Given the description of an element on the screen output the (x, y) to click on. 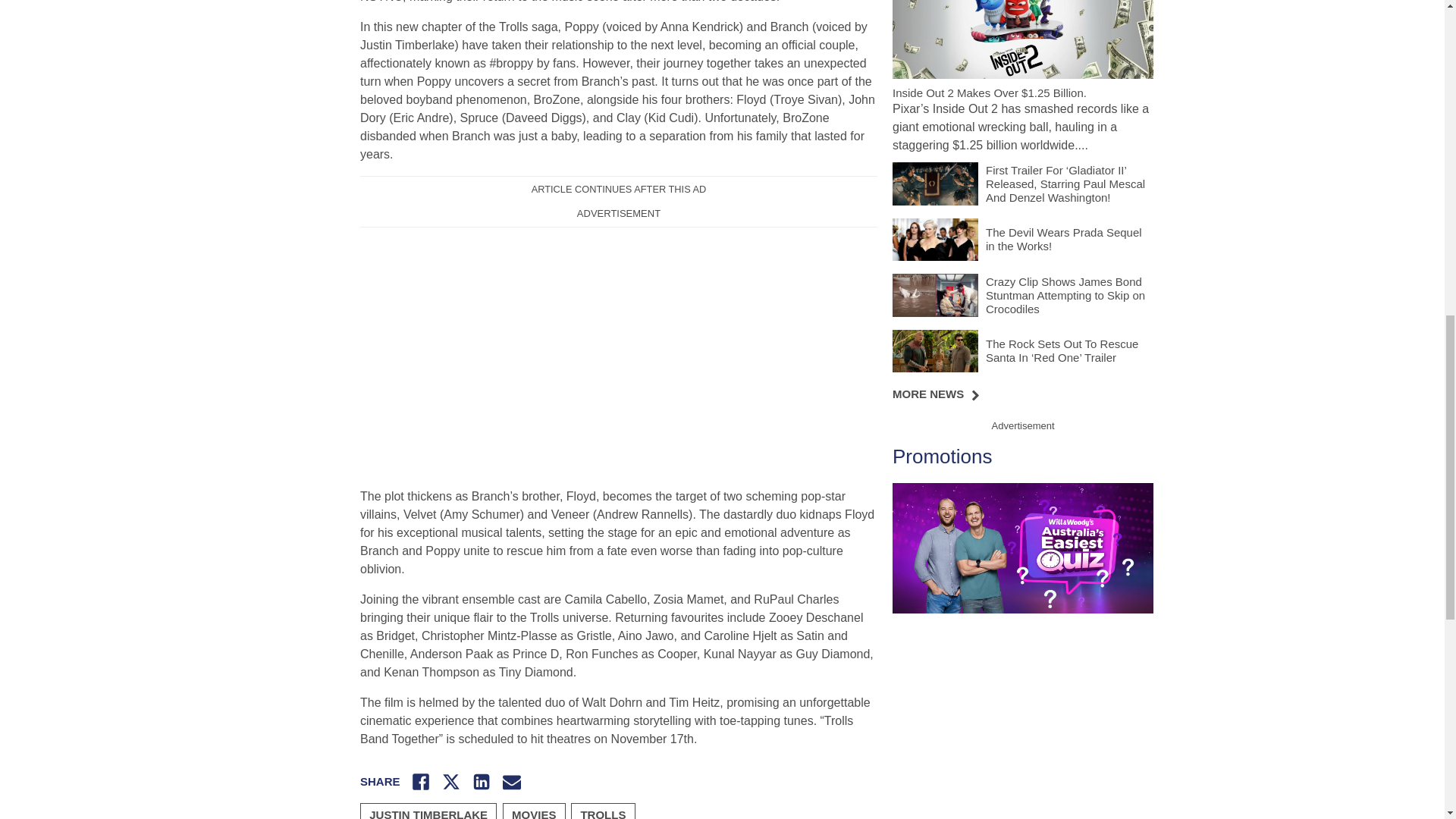
YouTube video player (571, 350)
